Given the description of an element on the screen output the (x, y) to click on. 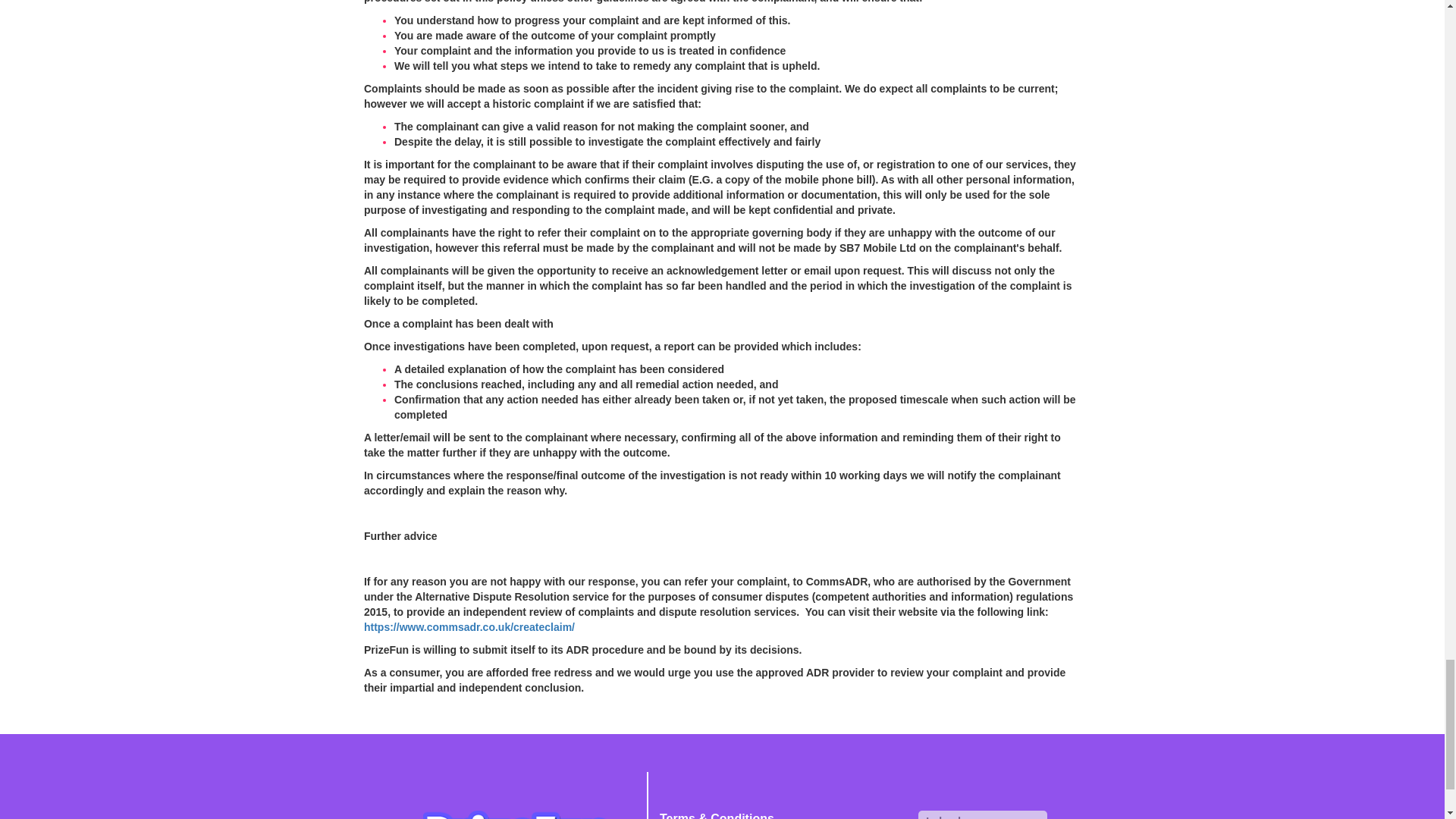
Country Select (982, 814)
